Given the description of an element on the screen output the (x, y) to click on. 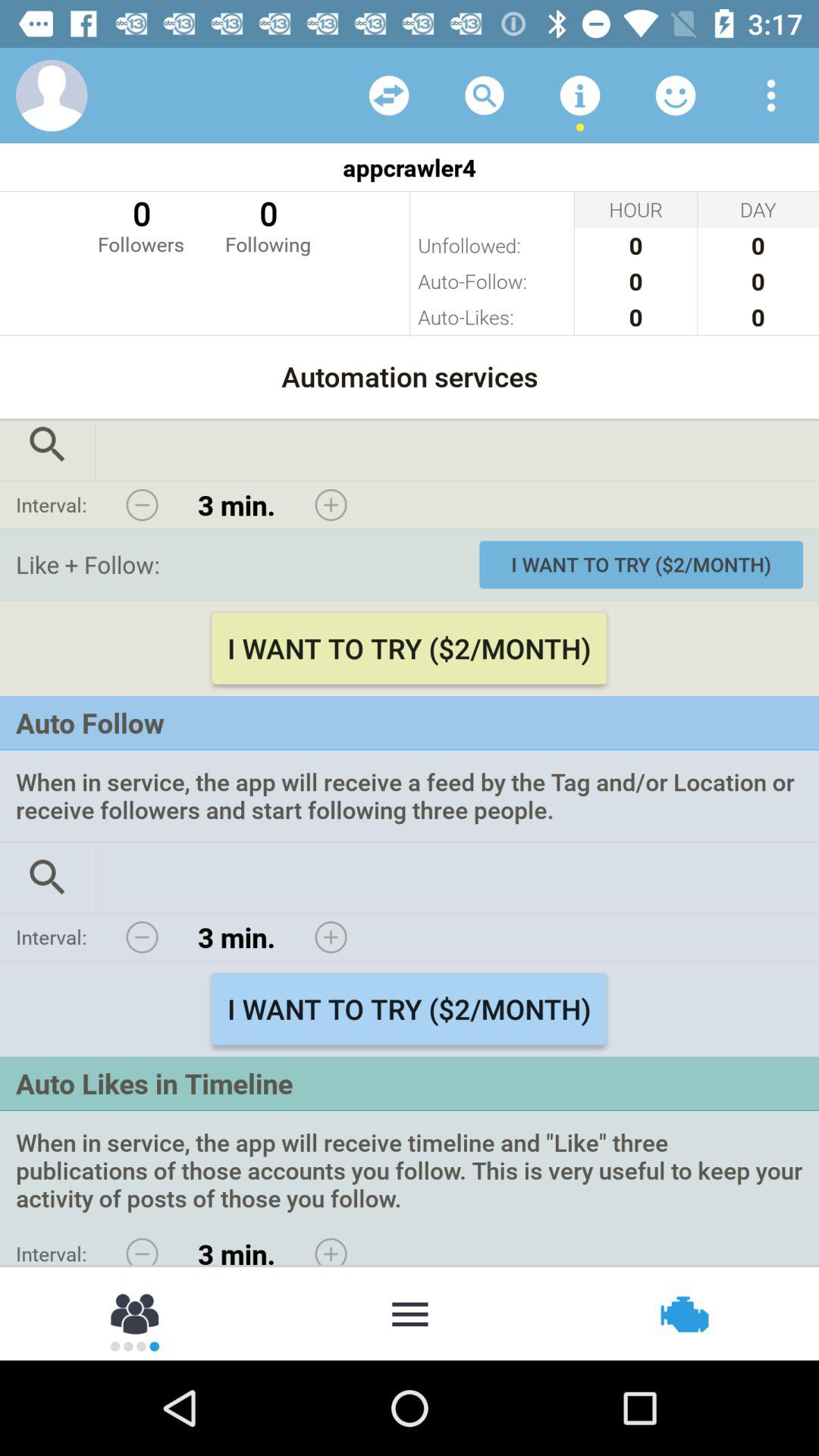
select icon below appcrawler4 (140, 224)
